Given the description of an element on the screen output the (x, y) to click on. 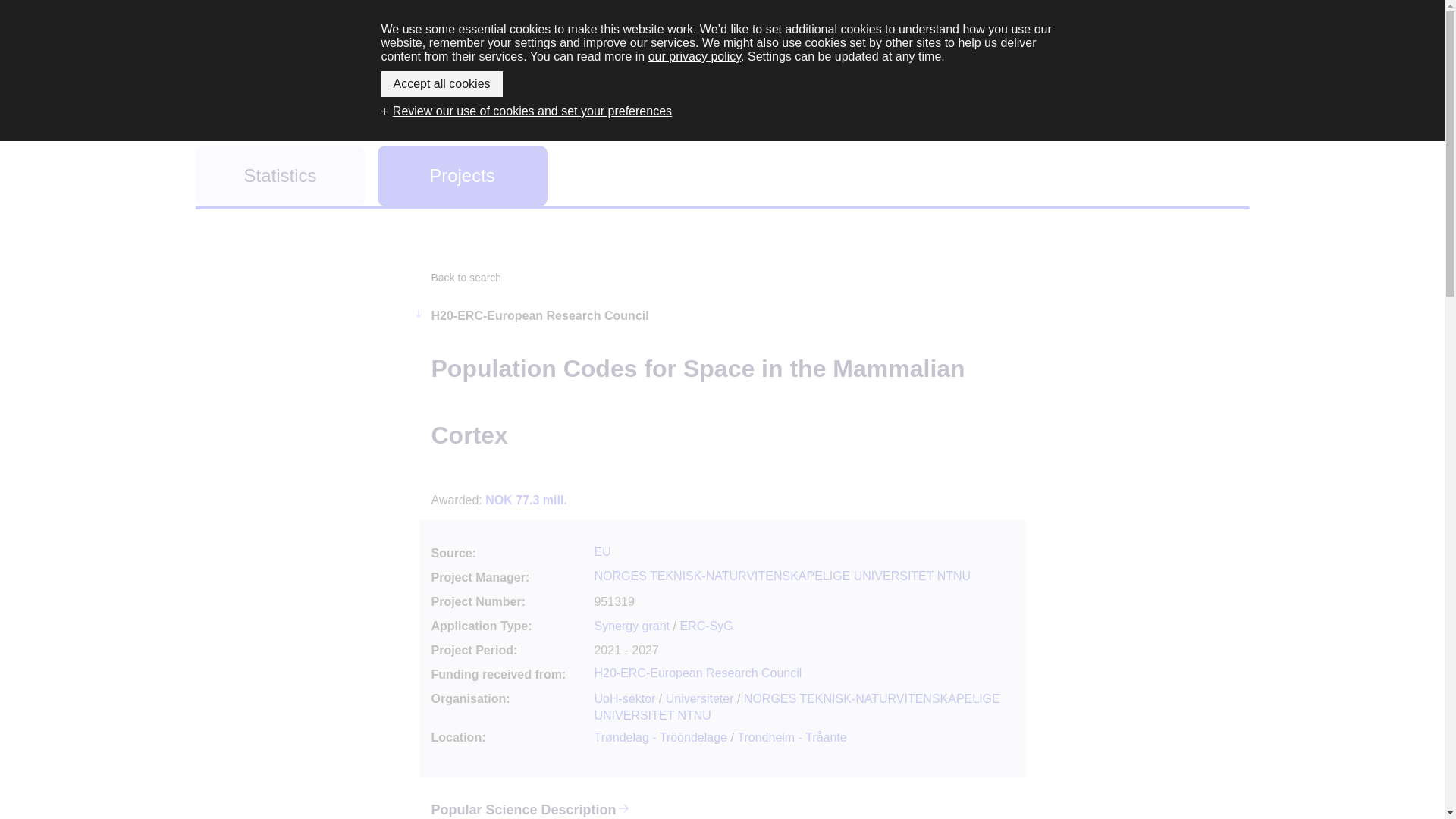
Projects (462, 175)
Back to search (465, 277)
UoH-sektor (624, 698)
PROJECT BANK (722, 64)
MENU (1207, 48)
Universiteter (699, 698)
ERC-SyG (705, 625)
Popular Science Description (522, 798)
NORGES TEKNISK-NATURVITENSKAPELIGE UNIVERSITET NTNU (782, 575)
Synergy grant (631, 625)
H20-ERC-European Research Council (698, 672)
Statistics (280, 175)
EU (602, 551)
NORGES TEKNISK-NATURVITENSKAPELIGE UNIVERSITET NTNU (796, 706)
